Given the description of an element on the screen output the (x, y) to click on. 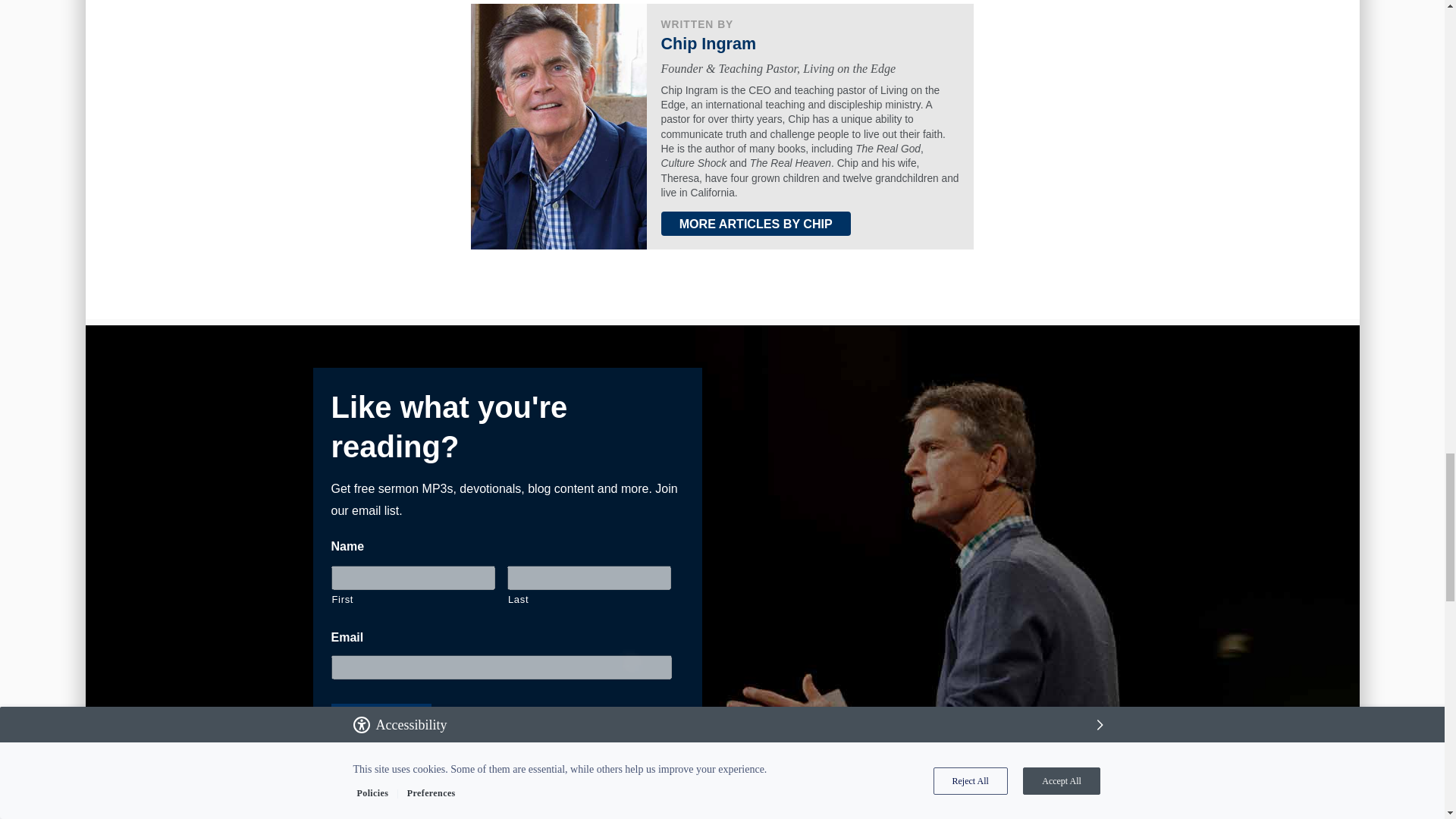
Subscribe (380, 725)
